Given the description of an element on the screen output the (x, y) to click on. 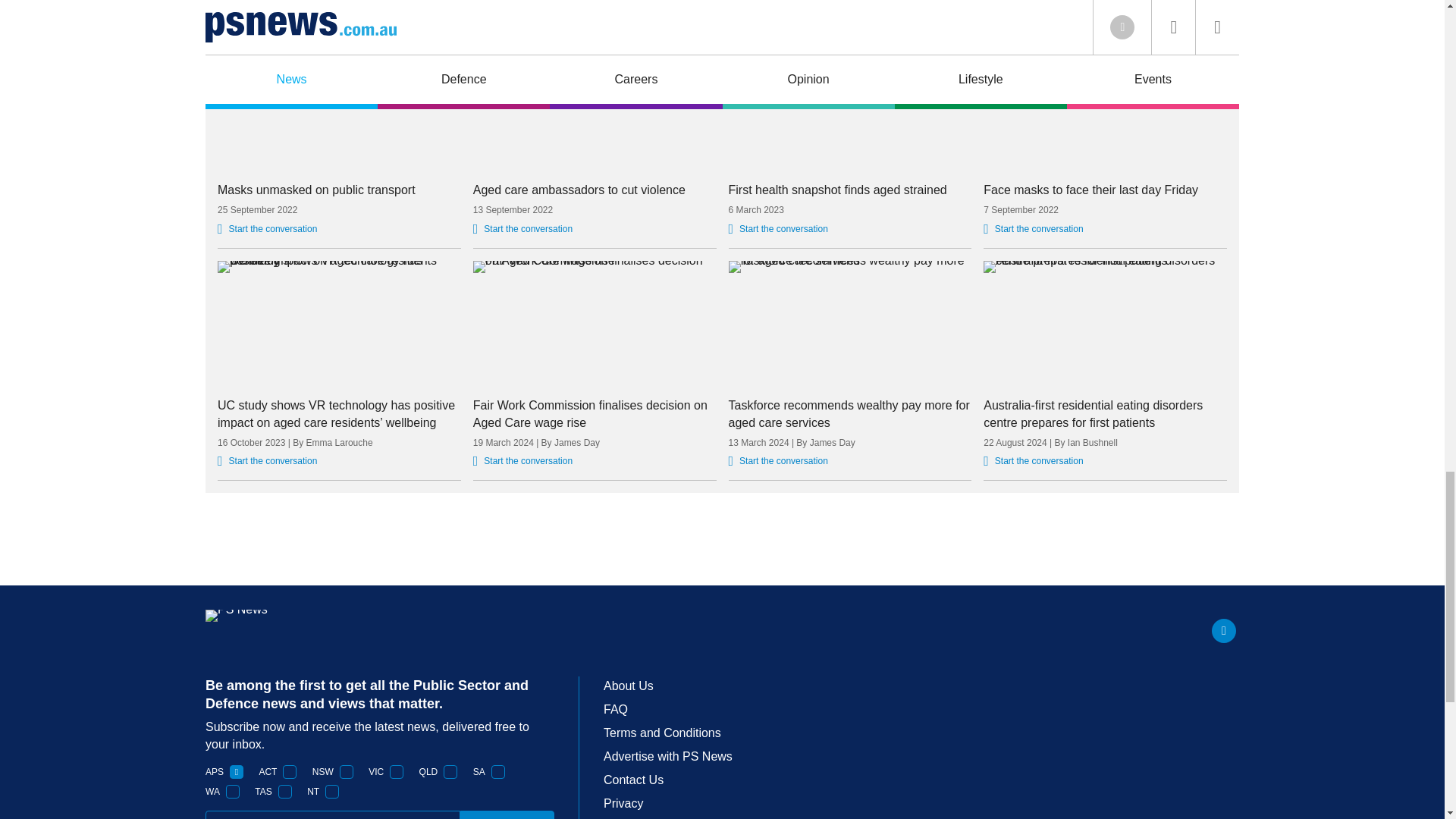
1 (285, 791)
1 (396, 771)
1 (346, 771)
1 (331, 791)
subscribe (507, 814)
1 (289, 771)
1 (232, 791)
LinkedIn (1223, 630)
1 (236, 771)
1 (450, 771)
